Given the description of an element on the screen output the (x, y) to click on. 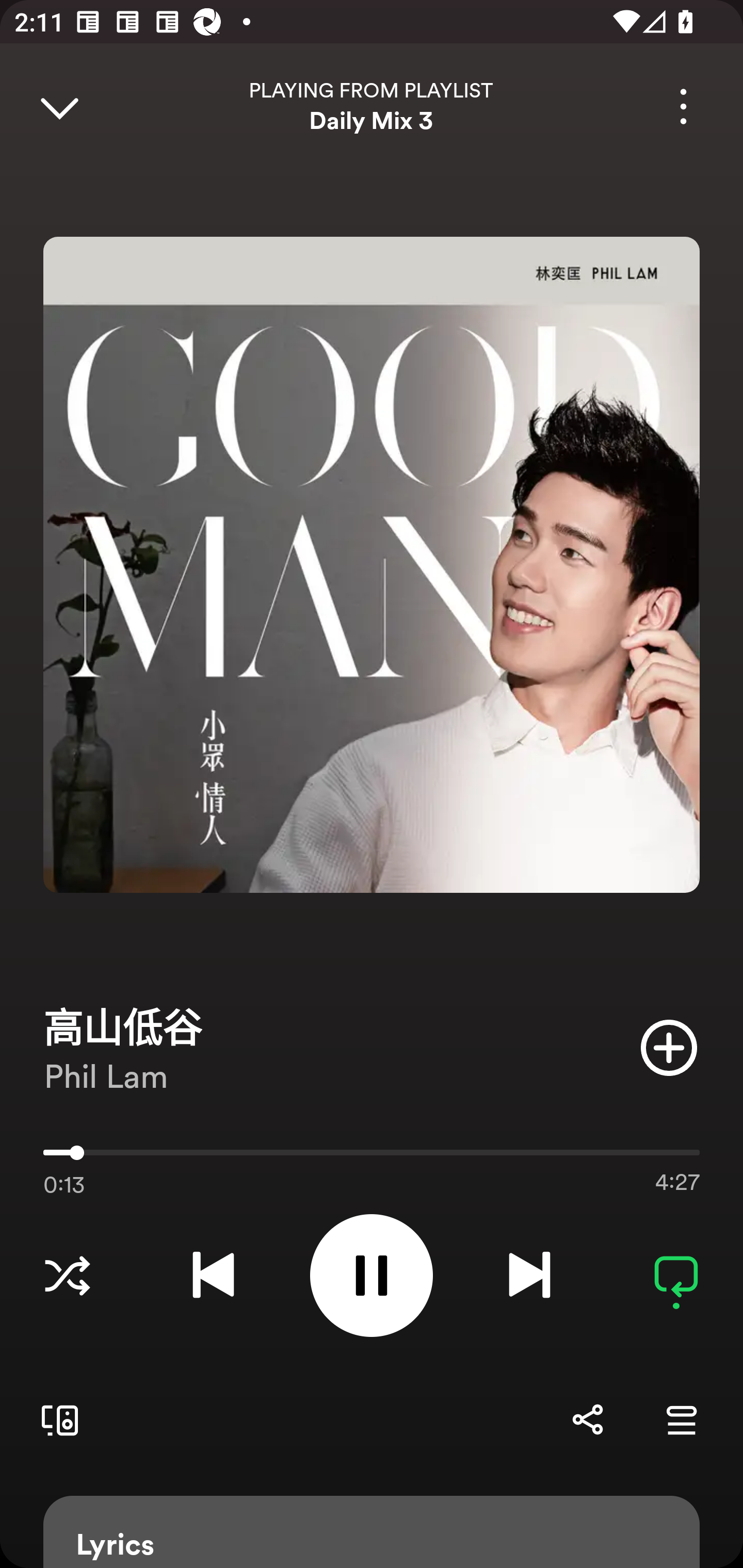
Close (59, 106)
More options for song 高山低谷 (683, 106)
PLAYING FROM PLAYLIST Daily Mix 3 (371, 106)
Add item (669, 1046)
0:13 4:27 13435.0 Use volume keys to adjust (371, 1157)
Pause (371, 1275)
Previous (212, 1275)
Next (529, 1275)
Choose a Listening Mode (66, 1275)
Repeat (676, 1275)
Share (587, 1419)
Go to Queue (681, 1419)
Connect to a device. Opens the devices menu (55, 1419)
Lyrics (371, 1531)
